Given the description of an element on the screen output the (x, y) to click on. 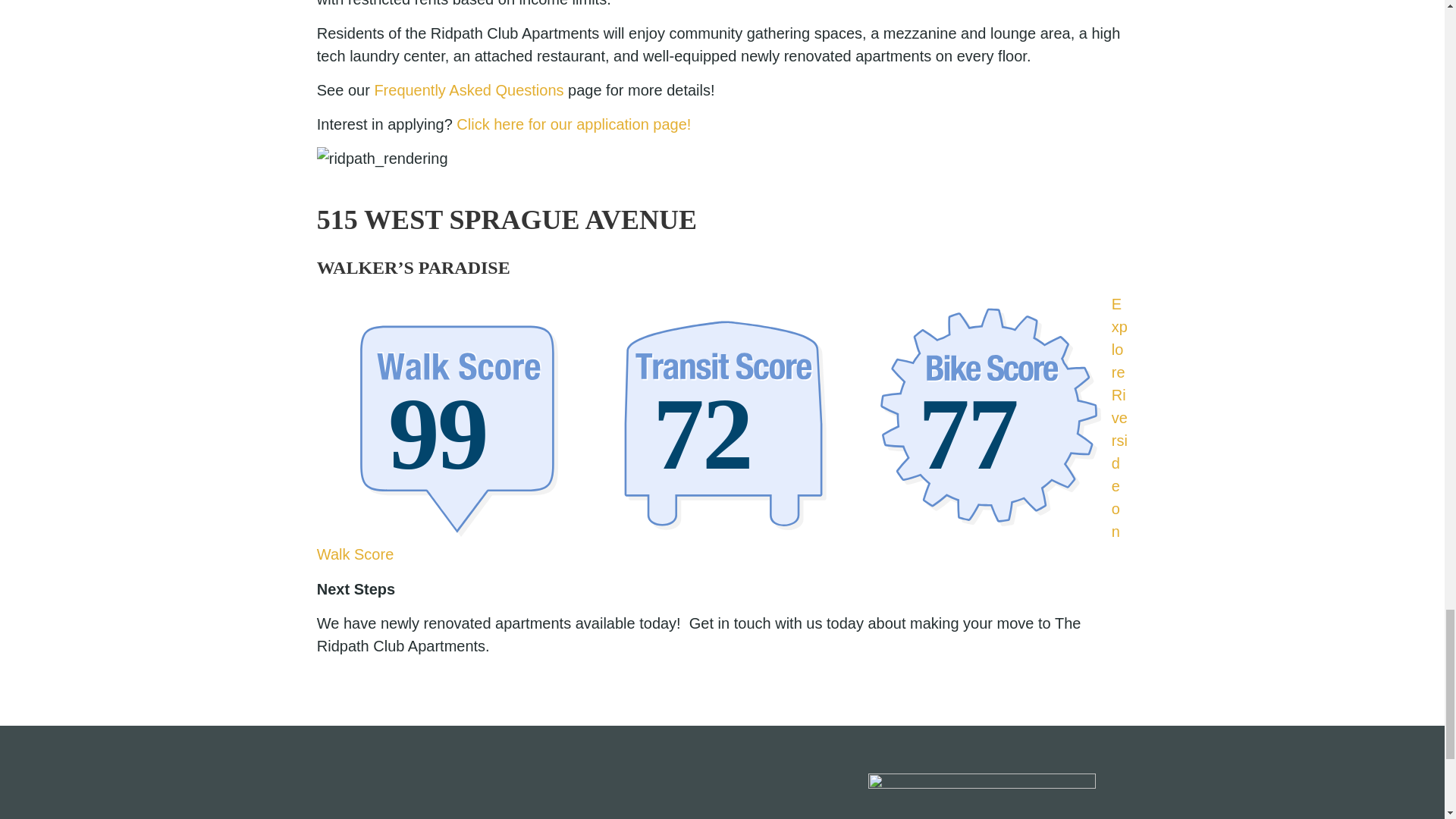
Click here for our application page! (573, 124)
Frequently Asked Questions (468, 89)
